Given the description of an element on the screen output the (x, y) to click on. 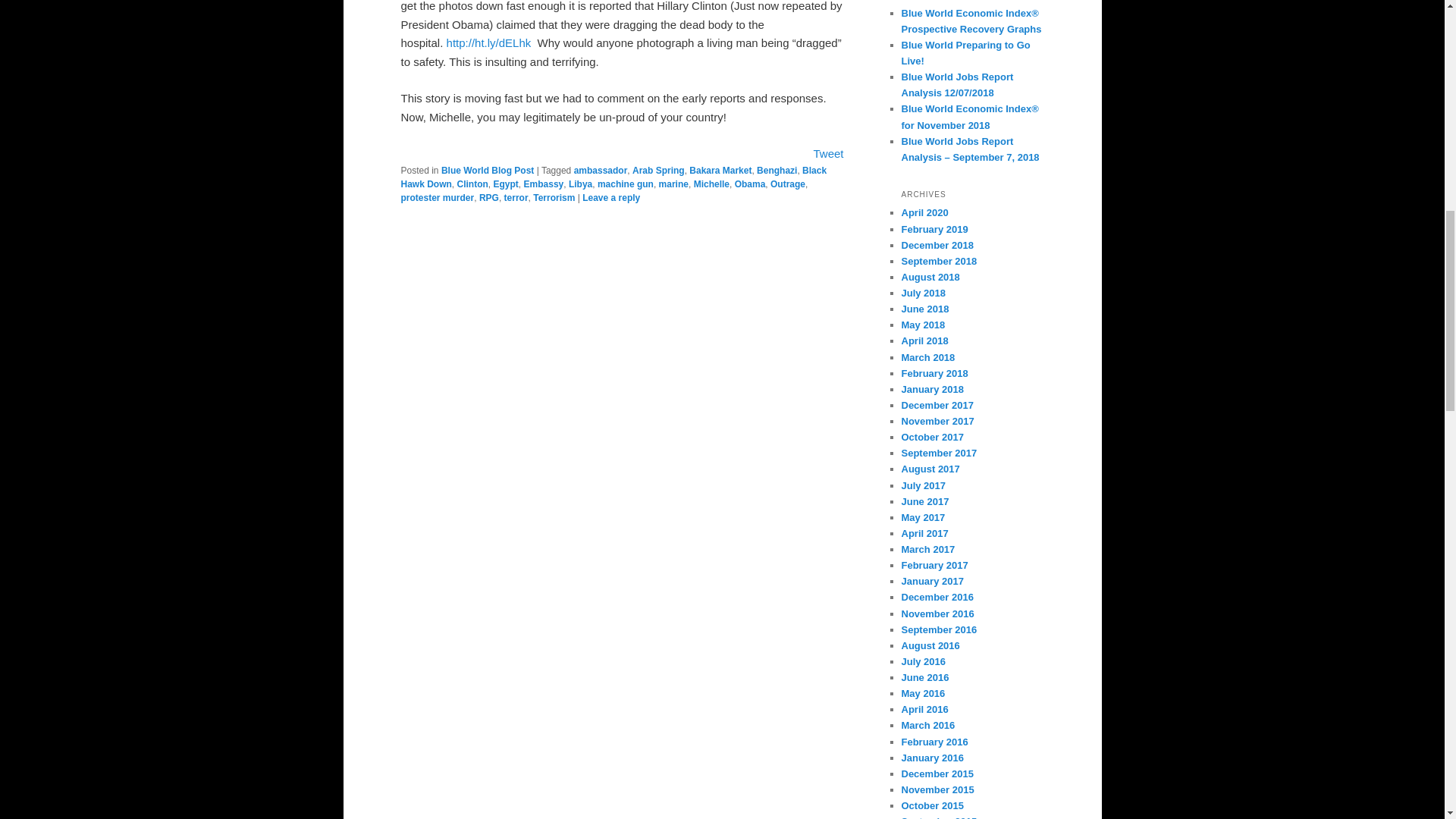
marine (673, 184)
Benghazi (776, 170)
Outrage (787, 184)
Black Hawk Down (613, 177)
Terrorism (553, 197)
Obama (750, 184)
terror (515, 197)
Tweet (827, 153)
ambassador (600, 170)
Libya (580, 184)
Clinton (472, 184)
Embassy (544, 184)
machine gun (624, 184)
RPG (489, 197)
protester murder (437, 197)
